Given the description of an element on the screen output the (x, y) to click on. 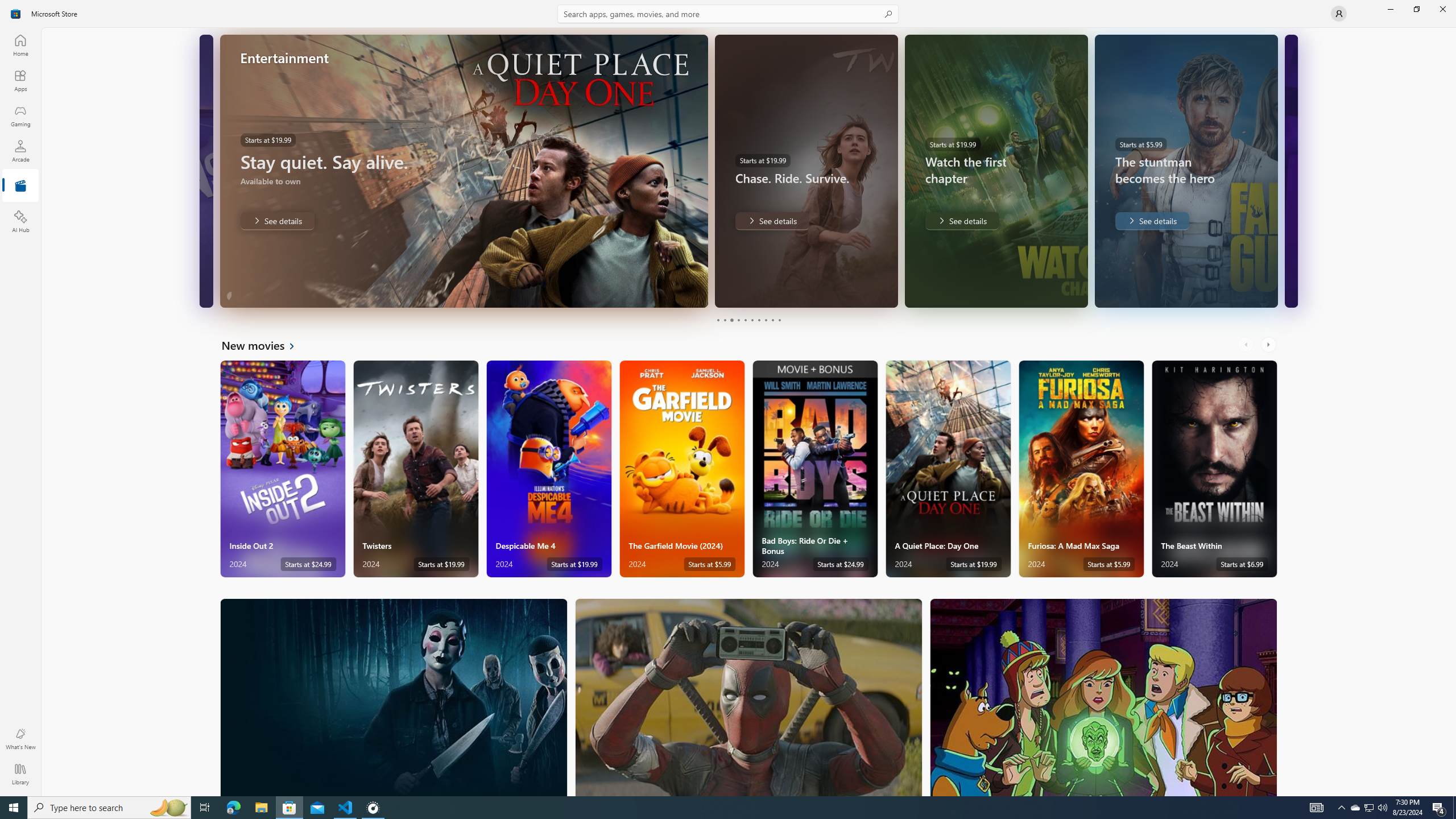
Page 8 (764, 319)
AutomationID: Image (1290, 170)
AutomationID: PosterImage (1103, 697)
Page 9 (772, 319)
Page 6 (751, 319)
AutomationID: RightScrollButton (1269, 344)
